Given the description of an element on the screen output the (x, y) to click on. 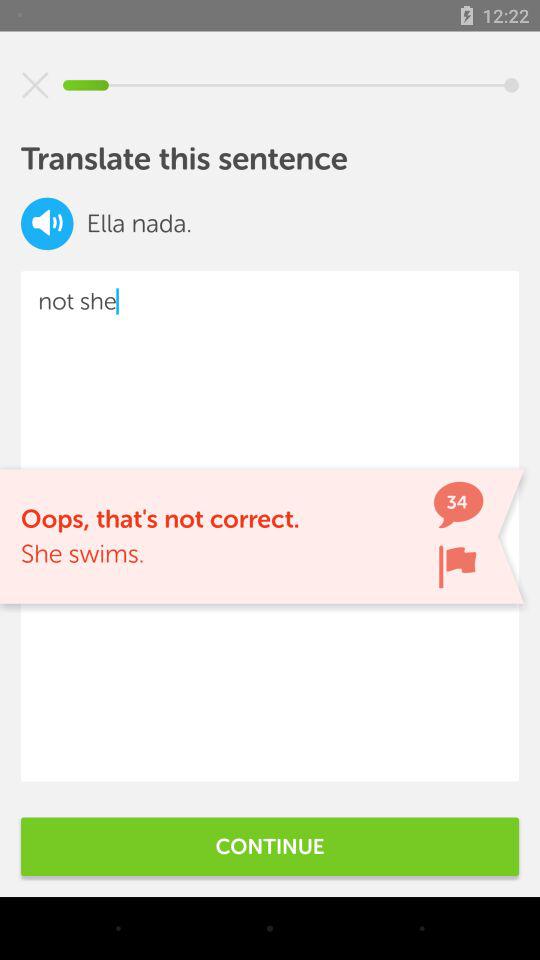
jump until the not she icon (270, 526)
